Given the description of an element on the screen output the (x, y) to click on. 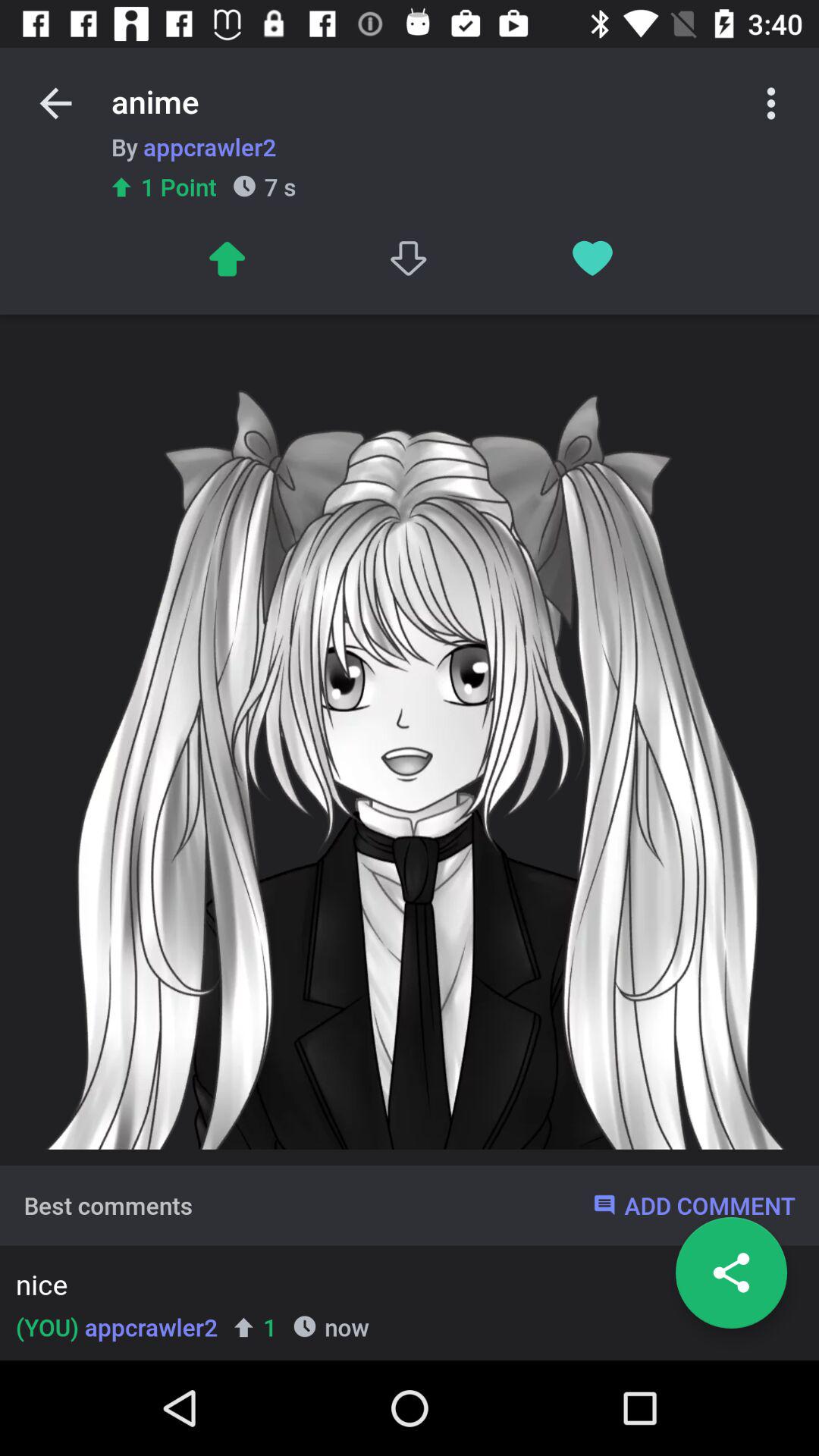
press item to the right of best comments icon (693, 1205)
